Given the description of an element on the screen output the (x, y) to click on. 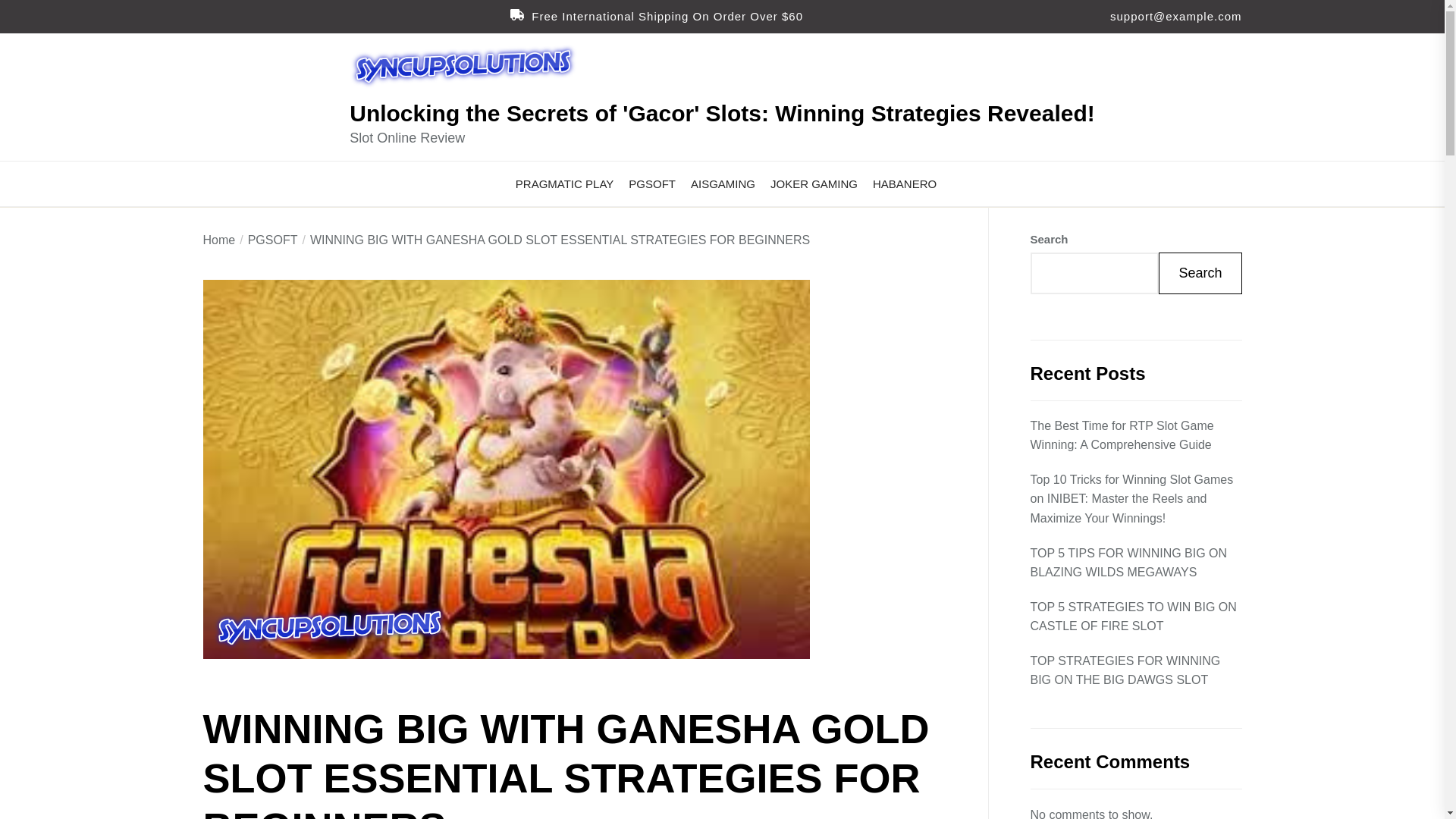
JOKER GAMING (813, 183)
TOP 5 TIPS FOR WINNING BIG ON BLAZING WILDS MEGAWAYS (1135, 562)
TOP 5 STRATEGIES TO WIN BIG ON CASTLE OF FIRE SLOT (1135, 616)
AISGAMING (722, 183)
HABANERO (904, 183)
TOP STRATEGIES FOR WINNING BIG ON THE BIG DAWGS SLOT (1135, 670)
PGSOFT (265, 239)
PGSOFT (651, 183)
Search (1199, 273)
PRAGMATIC PLAY (563, 183)
Home (219, 239)
